Given the description of an element on the screen output the (x, y) to click on. 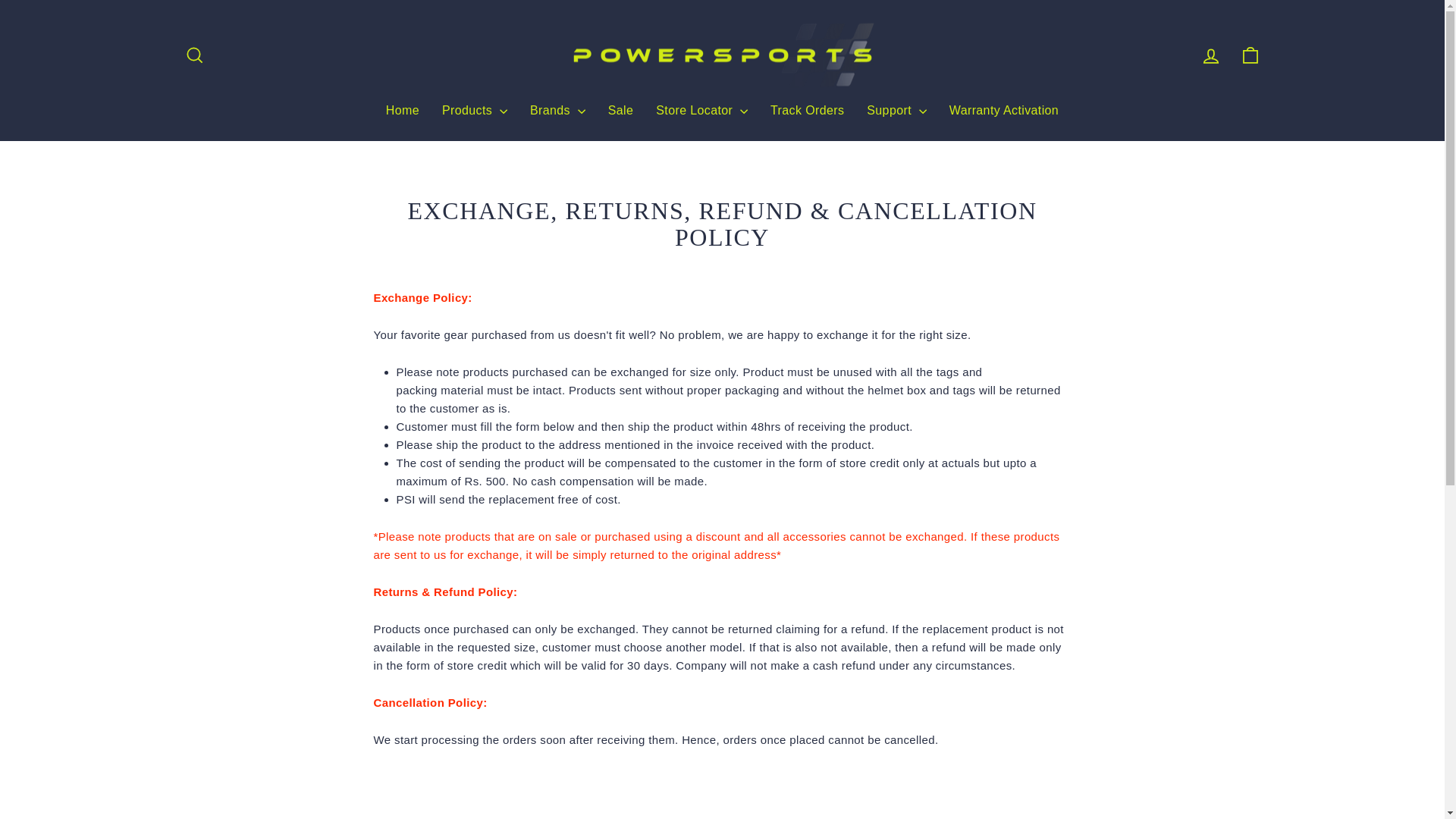
icon-search (194, 55)
account (1210, 55)
icon-bag-minimal (1249, 55)
